Given the description of an element on the screen output the (x, y) to click on. 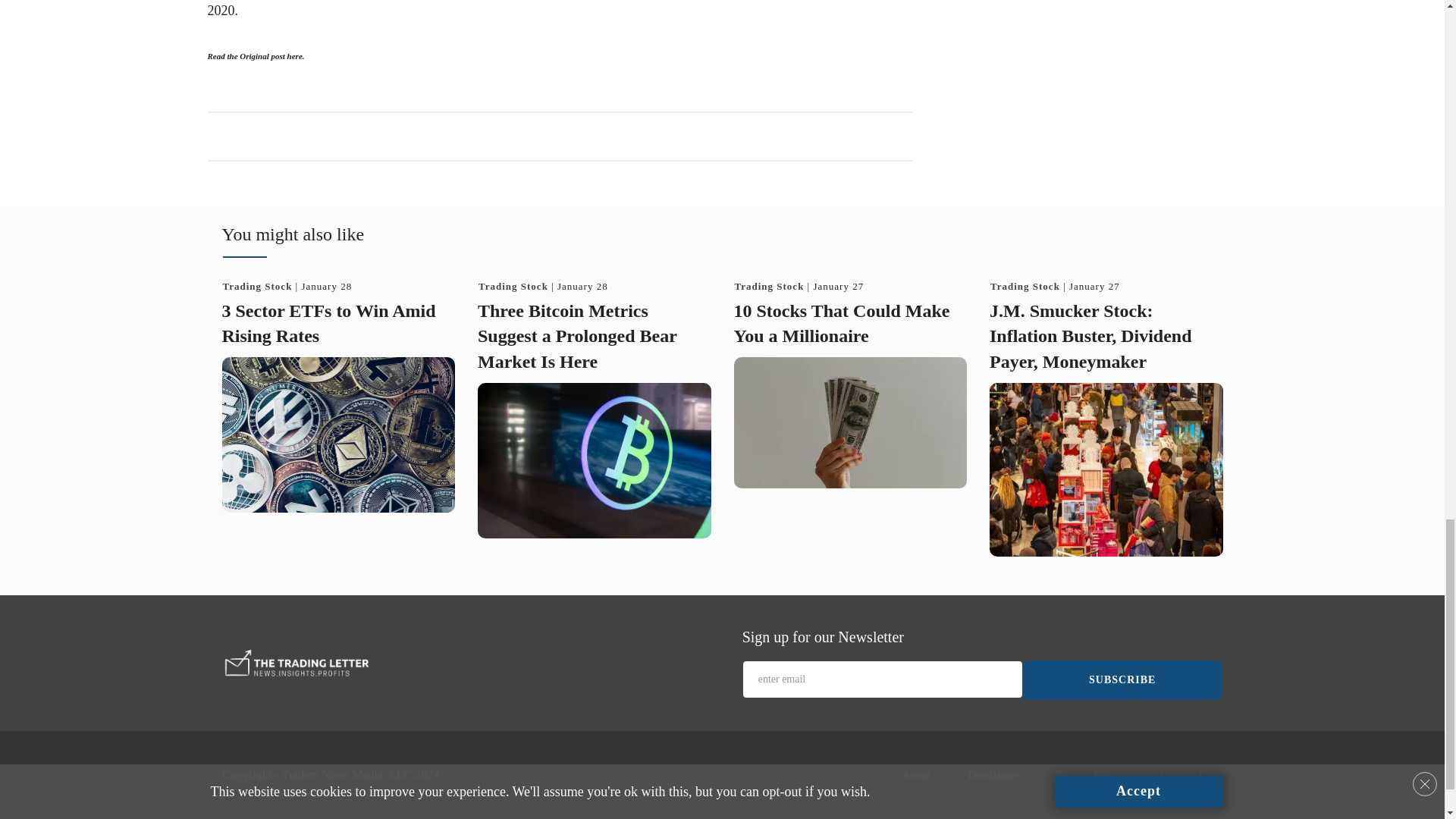
10 Stocks That Could Make You a Millionaire (841, 323)
Trading Stock (768, 285)
Read the Original post here. (256, 55)
Trading Stock (257, 285)
10 Stocks That Could Make You a Millionaire (841, 323)
Trading Stock (1024, 285)
10 Stocks That Could Make You a Millionaire (850, 422)
3 Sector ETFs to Win Amid Rising Rates (337, 434)
SUBSCRIBE (1123, 680)
Trading Stock (257, 285)
Contact Us (1185, 774)
3 Sector ETFs to Win Amid Rising Rates (328, 323)
Trading Stock (1024, 285)
Disclaimer (992, 774)
